Given the description of an element on the screen output the (x, y) to click on. 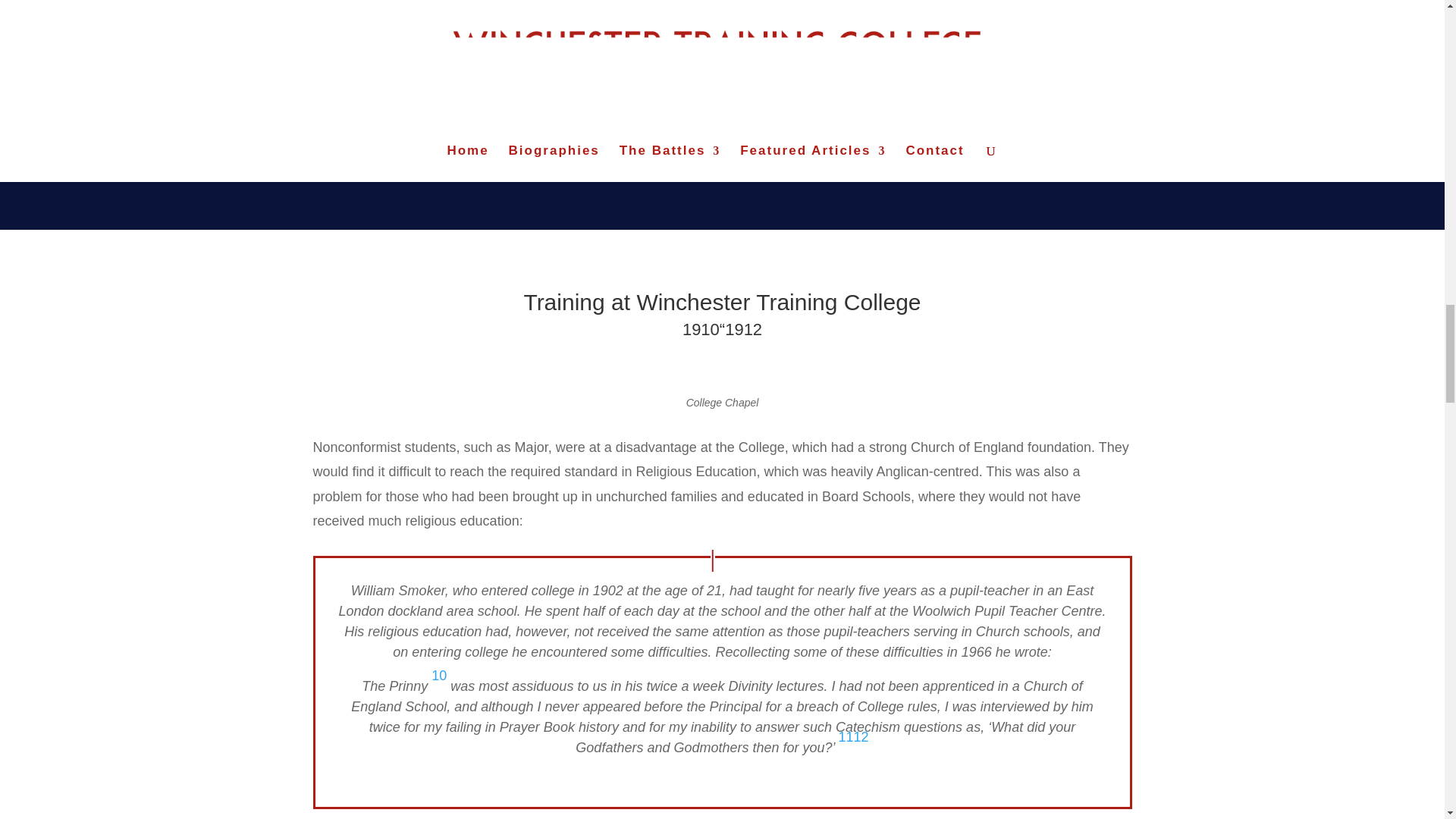
Winchester Training College (887, 106)
10 (438, 675)
12 (861, 736)
11 (845, 736)
